Given the description of an element on the screen output the (x, y) to click on. 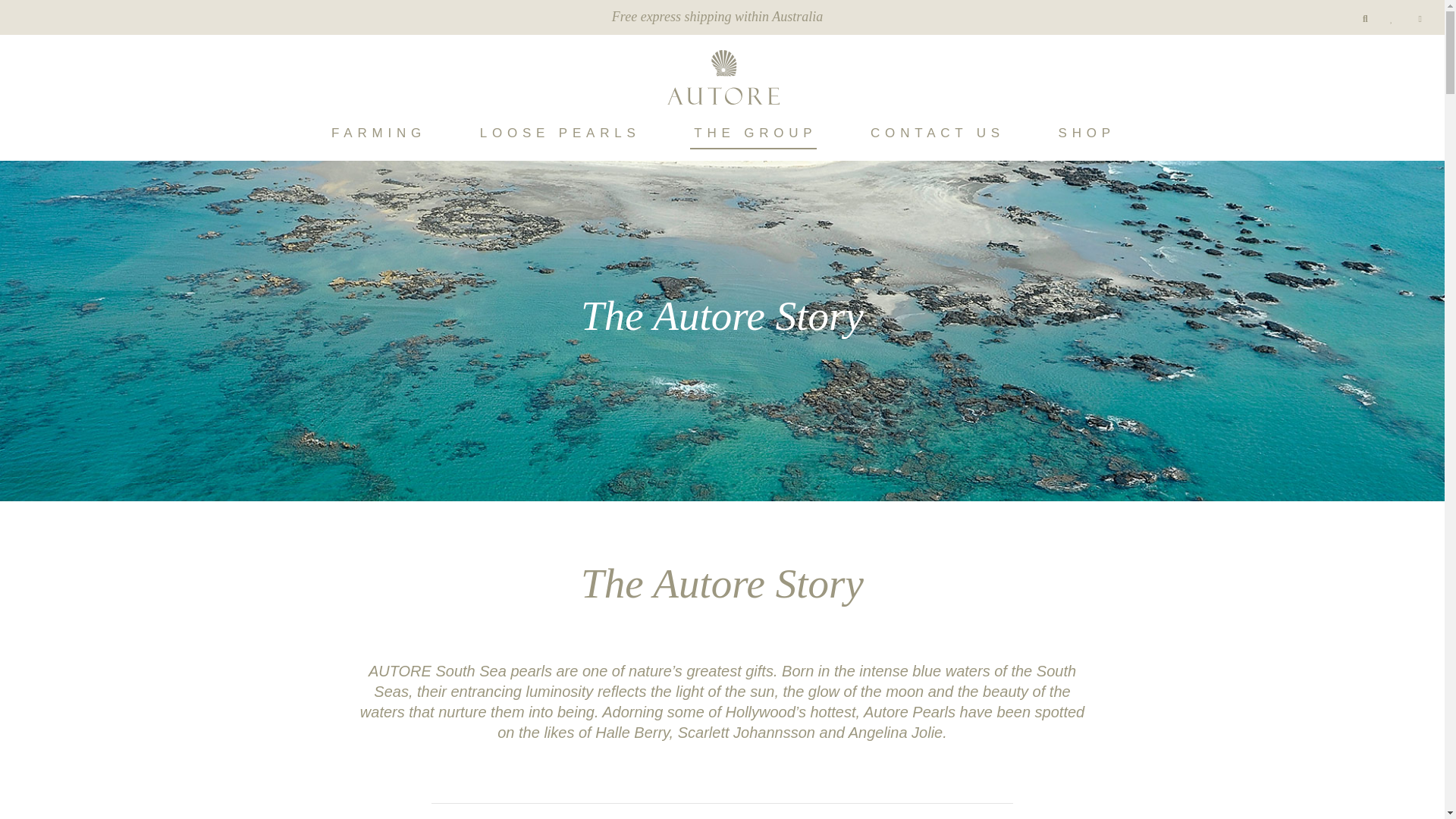
THE GROUP (753, 133)
CONTACT US (935, 133)
FARMING (376, 133)
SHOP (1084, 133)
LOOSE PEARLS (558, 133)
